Given the description of an element on the screen output the (x, y) to click on. 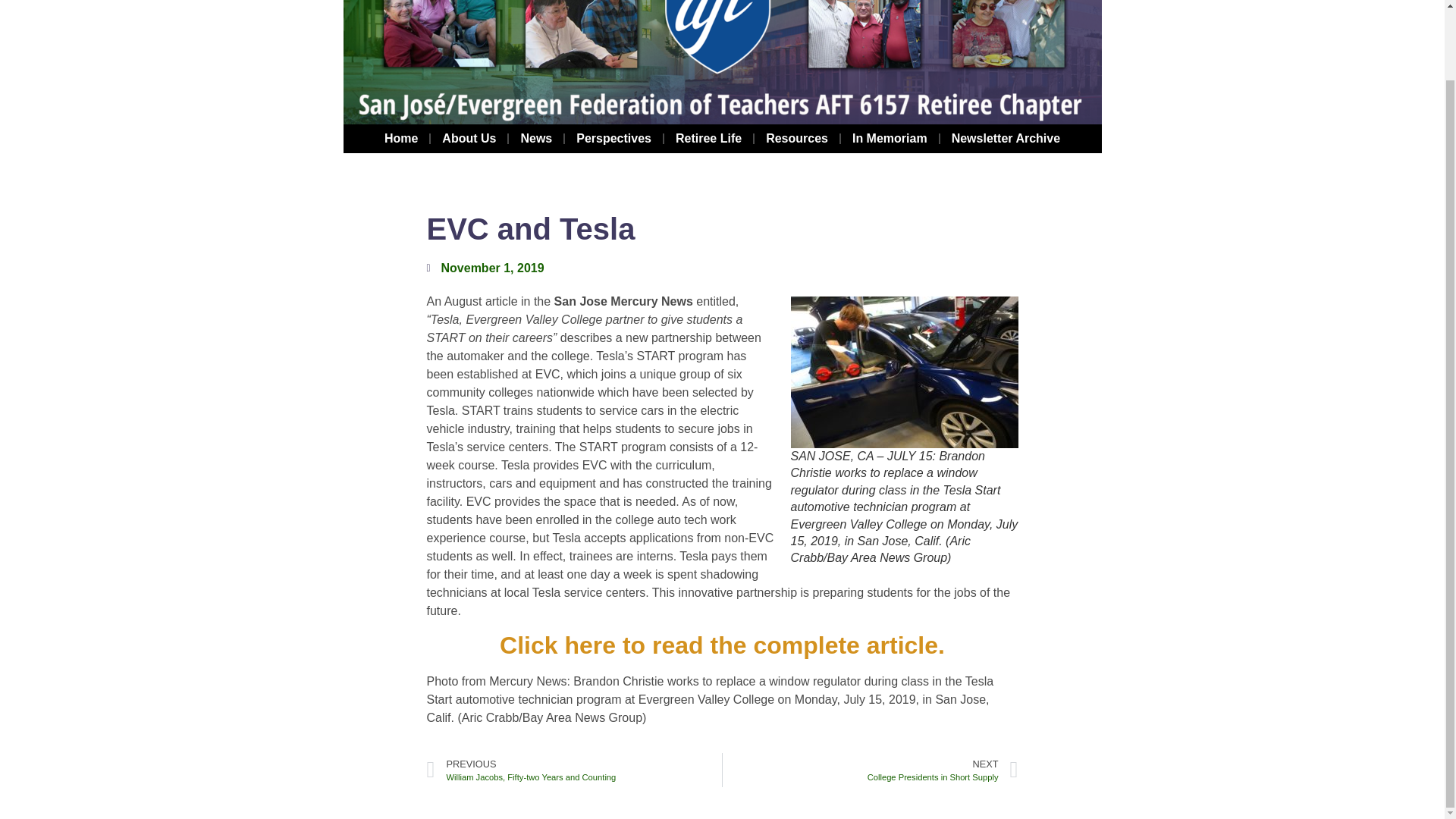
Click here to read the complete article. (721, 645)
Newsletter Archive (574, 769)
Resources (1005, 138)
November 1, 2019 (796, 138)
Home (869, 769)
News (484, 268)
Retiree Life (401, 138)
Perspectives (535, 138)
In Memoriam (708, 138)
About Us (614, 138)
